Given the description of an element on the screen output the (x, y) to click on. 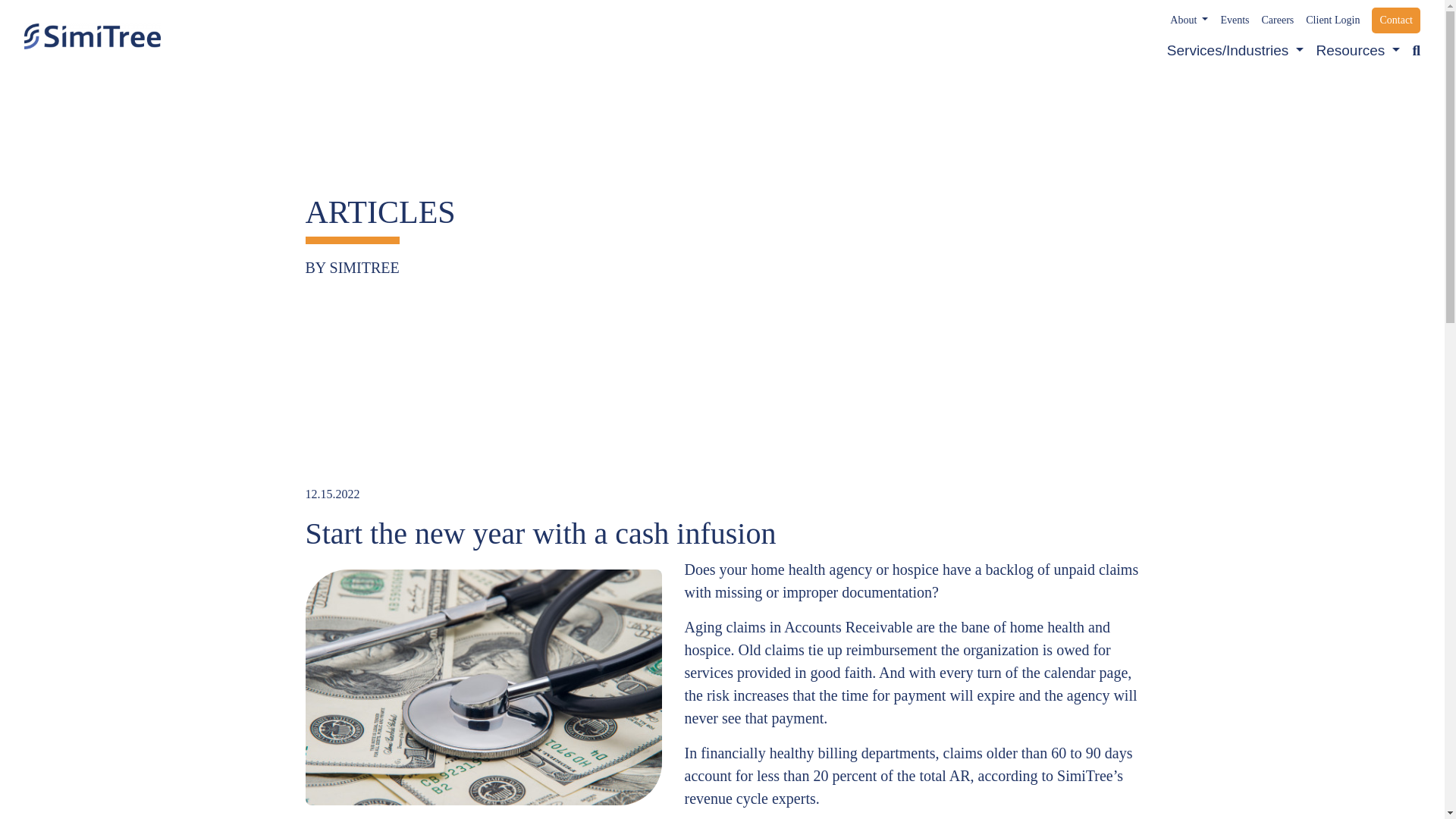
Careers (1278, 21)
Contact (1396, 20)
Events (1234, 21)
Client Login (1332, 21)
